Given the description of an element on the screen output the (x, y) to click on. 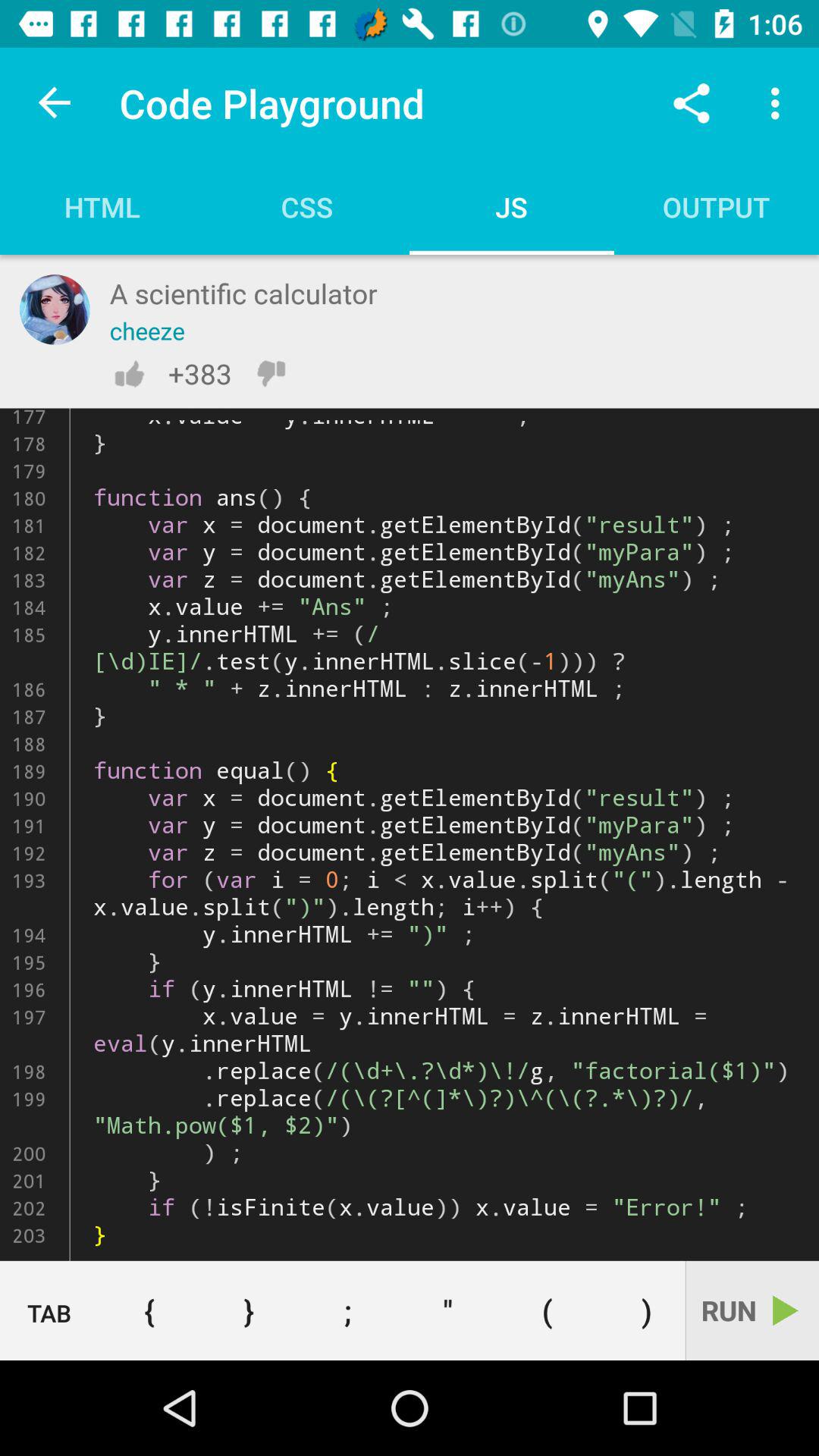
turn off item above output item (691, 103)
